Given the description of an element on the screen output the (x, y) to click on. 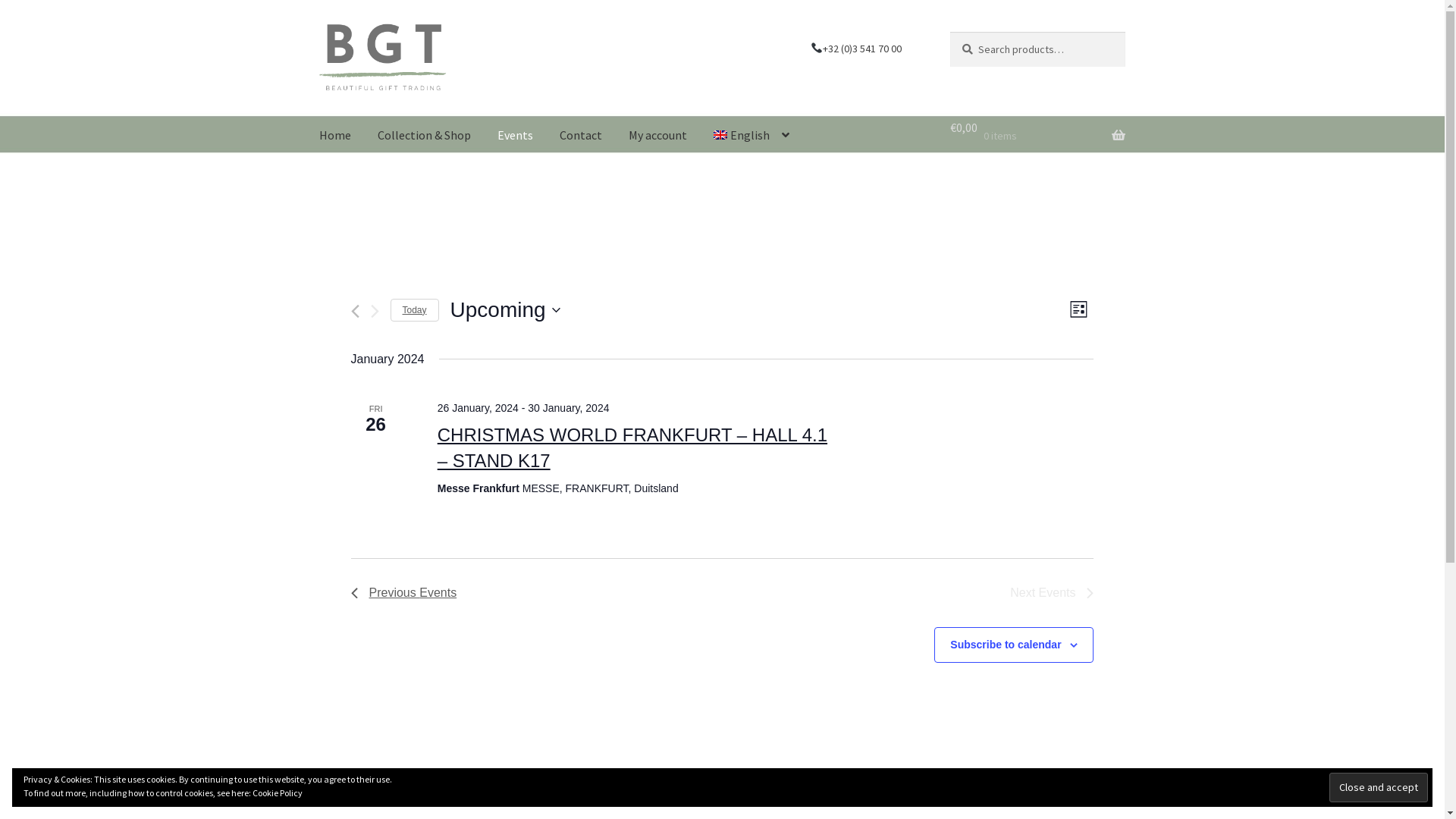
Subscribe to calendar Element type: text (1005, 644)
Upcoming Element type: text (505, 309)
Search Element type: text (949, 31)
English Element type: text (751, 135)
Close and accept Element type: text (1378, 787)
Cookie Policy Element type: text (277, 792)
Today Element type: text (414, 310)
List Element type: text (1078, 309)
Next Events Element type: hover (374, 311)
Collection & Shop Element type: text (424, 135)
Next Events Element type: text (1051, 592)
Previous Events Element type: hover (355, 311)
Previous Events Element type: text (404, 592)
Home Element type: text (335, 135)
Events Element type: text (515, 135)
+32 (0)3 541 70 00 Element type: text (855, 47)
Skip to navigation Element type: text (318, 31)
Contact Element type: text (580, 135)
My account Element type: text (657, 135)
